Given the description of an element on the screen output the (x, y) to click on. 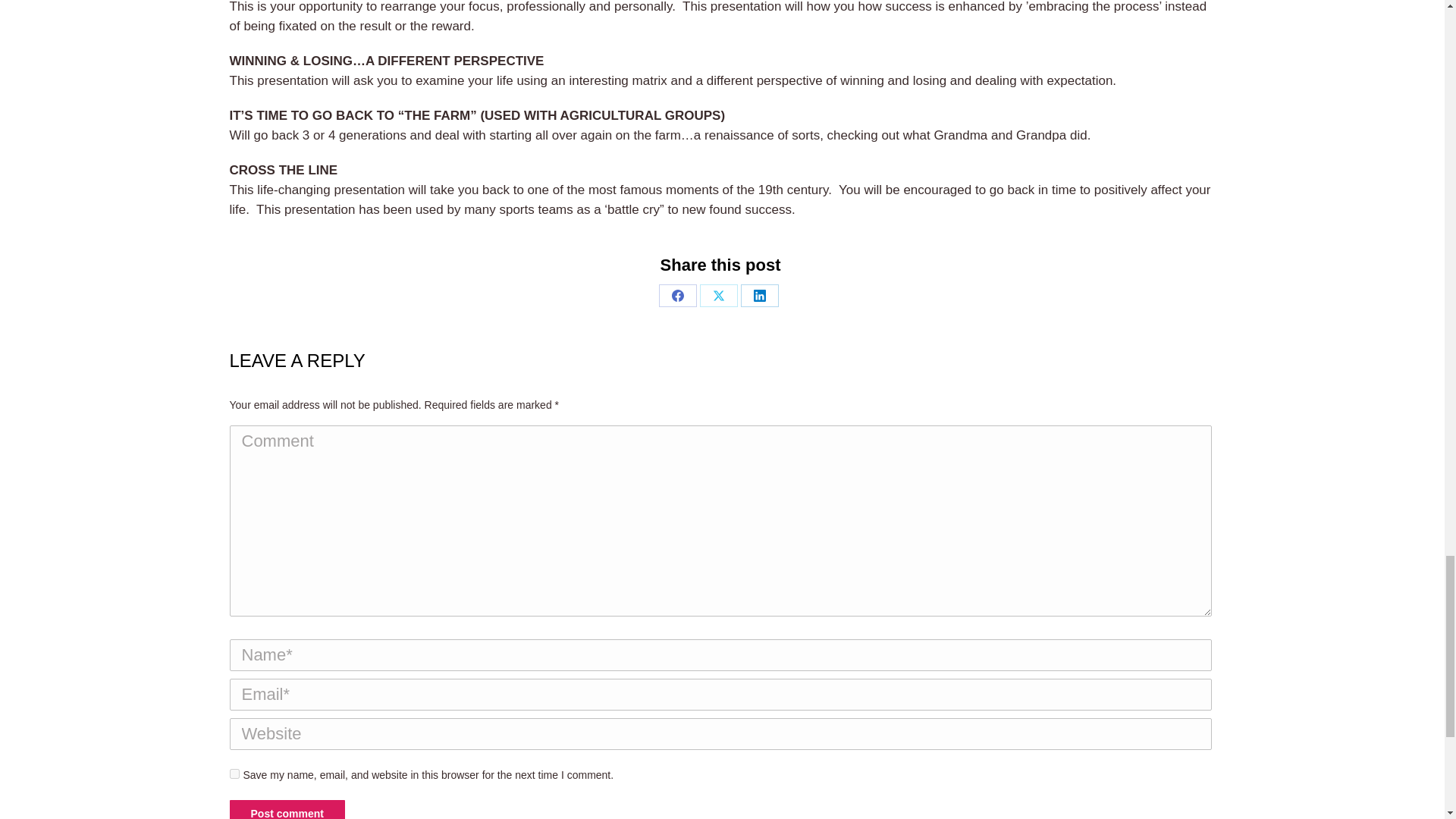
X (719, 295)
LinkedIn (759, 295)
Facebook (678, 295)
yes (233, 773)
